Given the description of an element on the screen output the (x, y) to click on. 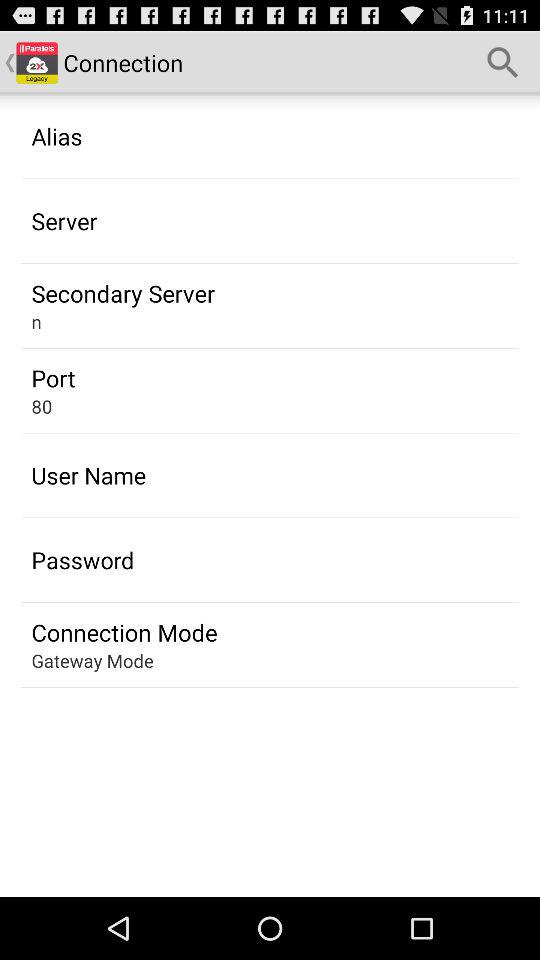
turn off app below the server icon (122, 293)
